Given the description of an element on the screen output the (x, y) to click on. 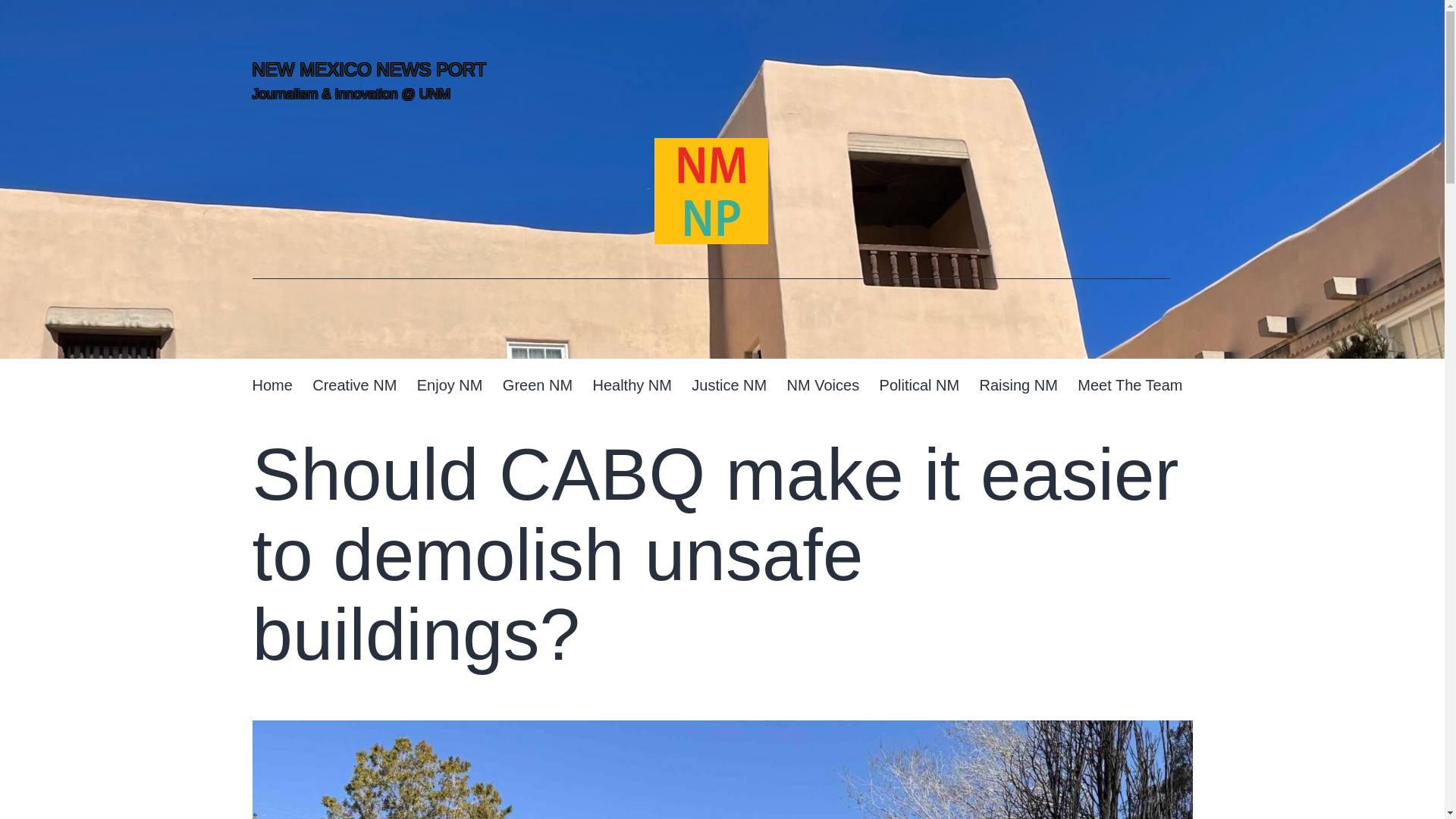
Justice NM (728, 385)
Enjoy NM (450, 385)
Raising NM (1018, 385)
Meet The Team (1129, 385)
NEW MEXICO NEWS PORT (368, 68)
NM Voices (822, 385)
Home (271, 385)
Political NM (919, 385)
Creative NM (354, 385)
Green NM (538, 385)
